Given the description of an element on the screen output the (x, y) to click on. 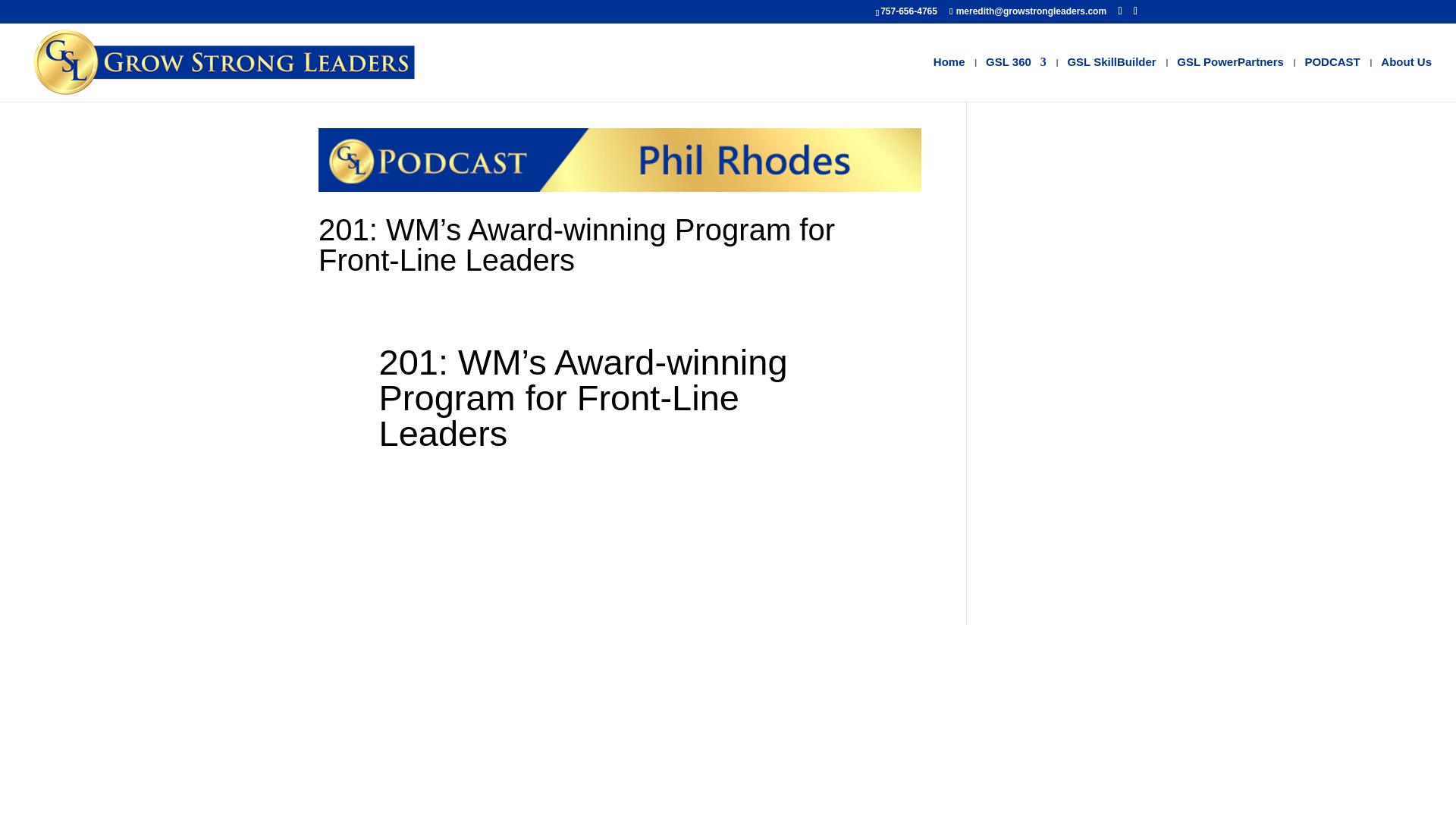
GSL SkillBuilder (1111, 78)
GSL 360 (1015, 78)
About Us (1405, 78)
PODCAST (1331, 78)
GSL PowerPartners (1230, 78)
